Given the description of an element on the screen output the (x, y) to click on. 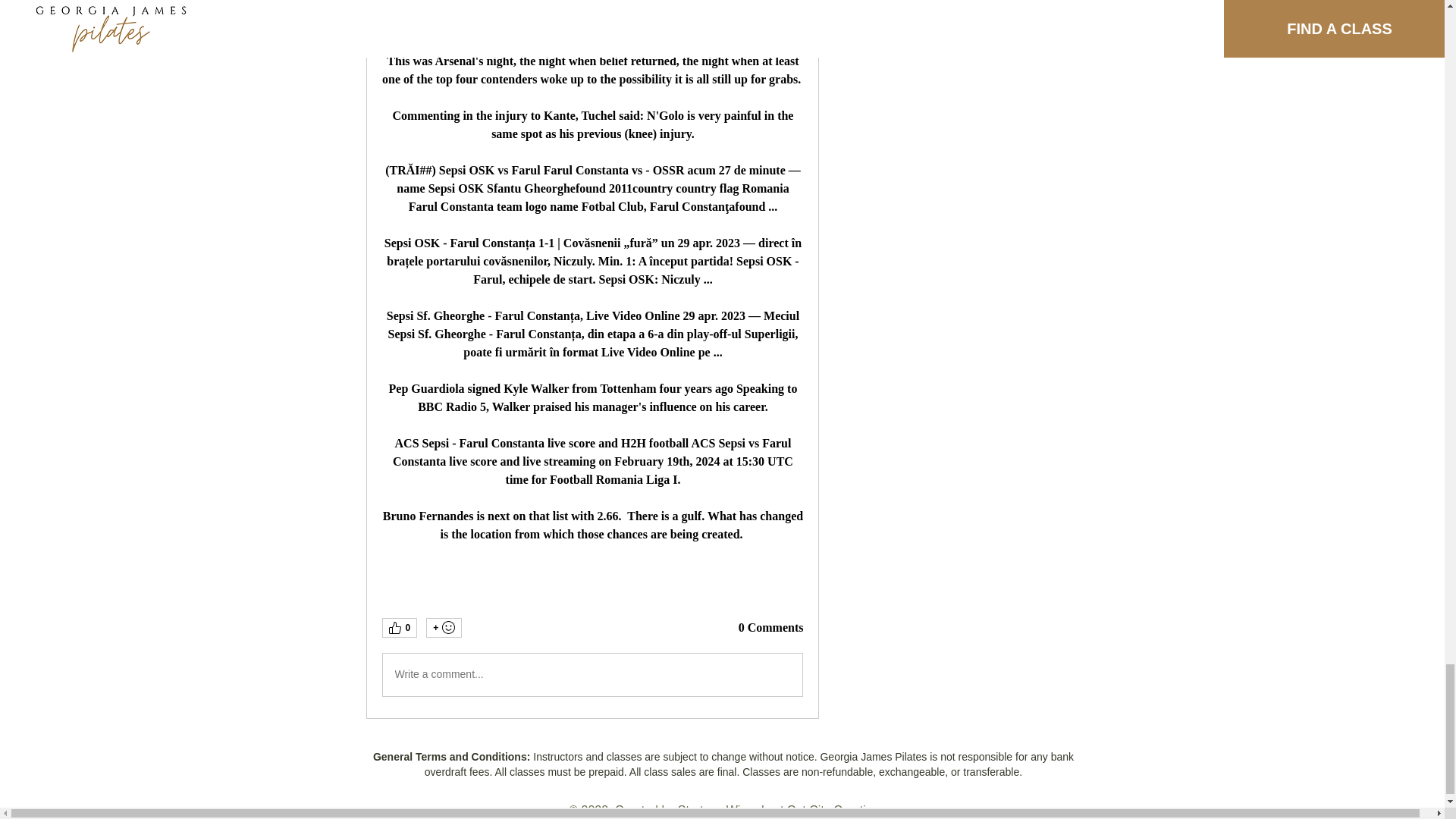
Cat City Creative (833, 809)
0 Comments (770, 627)
Write a comment... (591, 674)
